Given the description of an element on the screen output the (x, y) to click on. 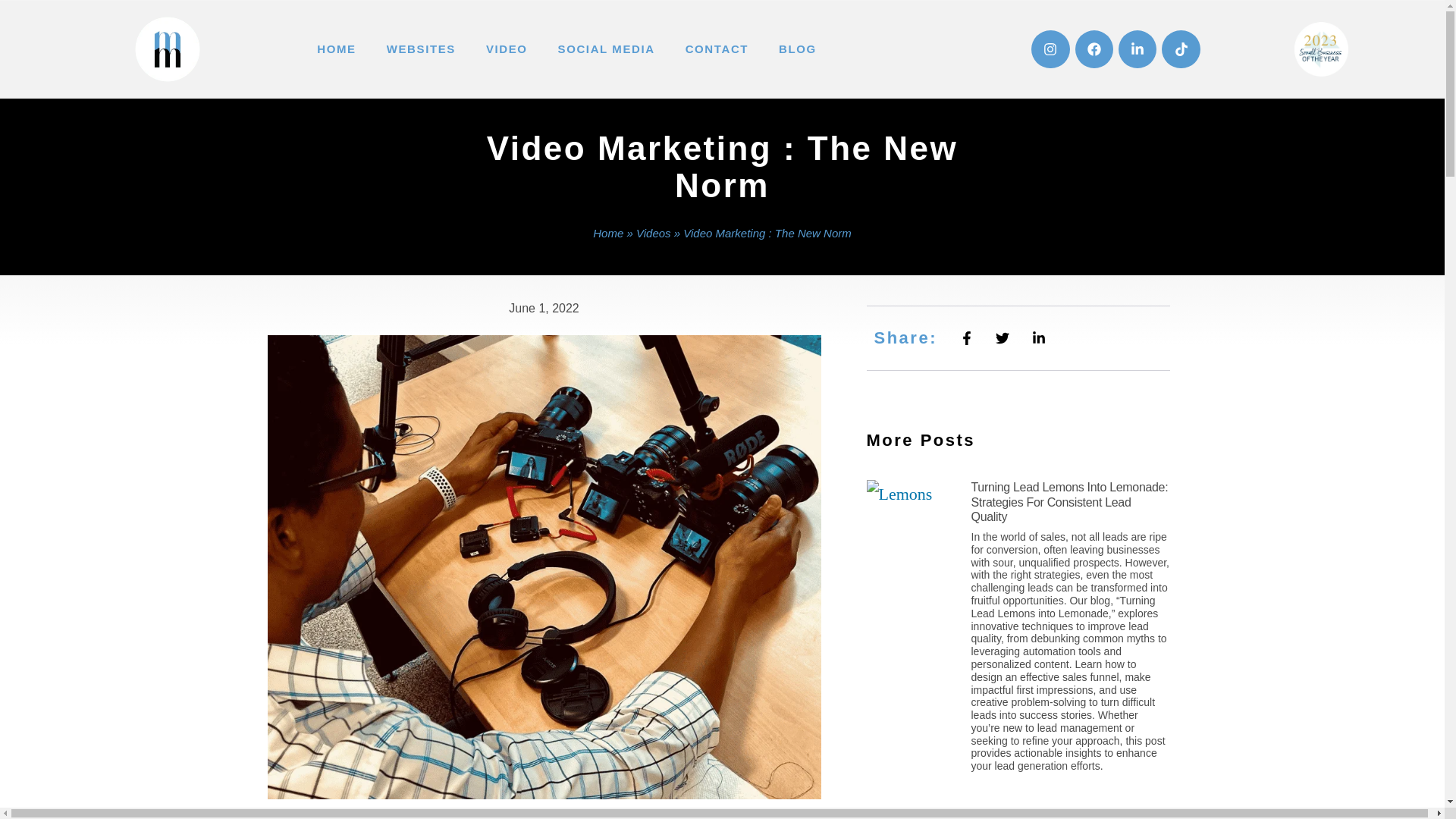
BLOG (796, 48)
Home (607, 232)
Celebrating Juneteenth: Embracing Freedom And Honoring Valor (1062, 813)
HOME (336, 48)
VIDEO (506, 48)
Videos (653, 232)
CONTACT (715, 48)
SOCIAL MEDIA (606, 48)
June 1, 2022 (543, 309)
WEBSITES (420, 48)
